Given the description of an element on the screen output the (x, y) to click on. 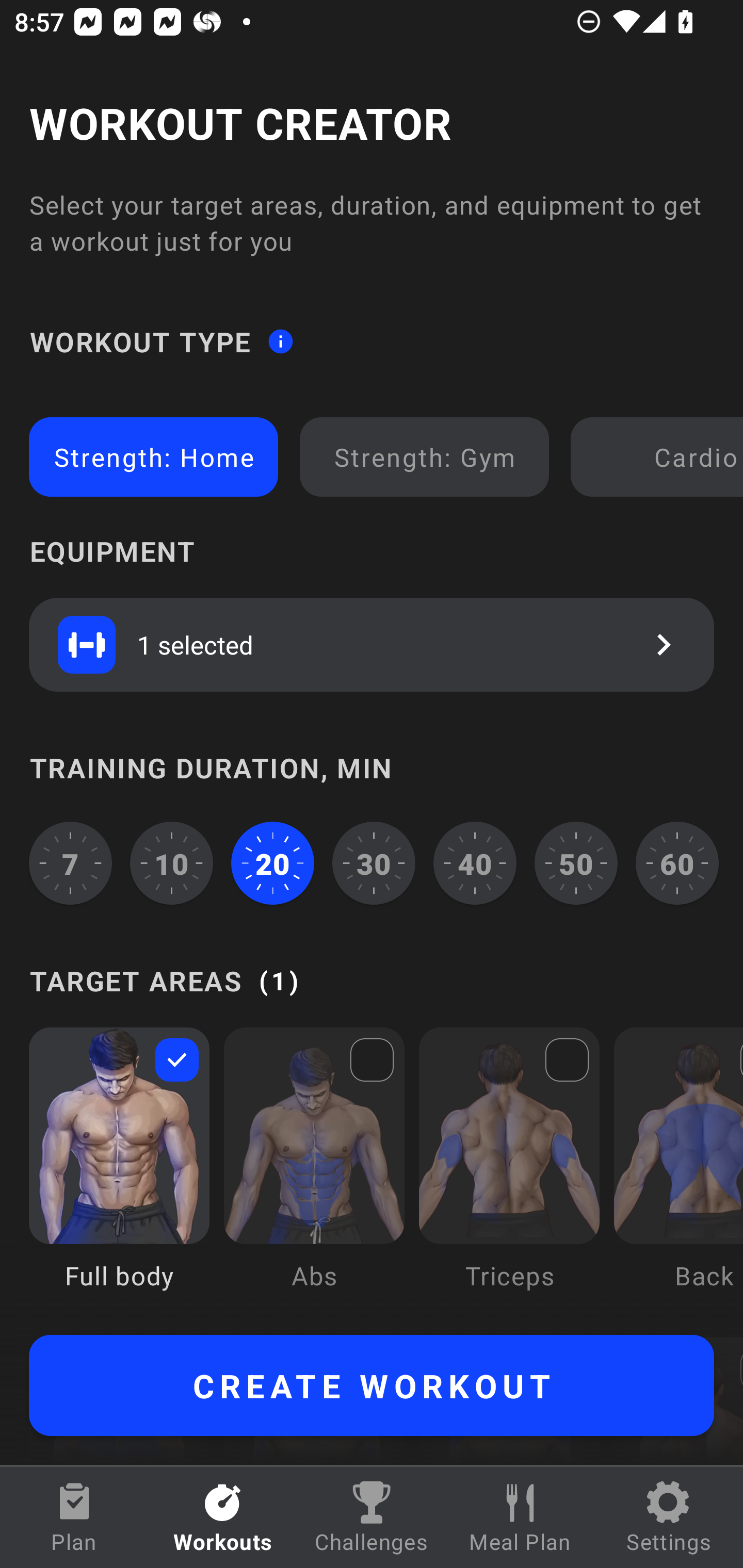
Workout type information button (280, 340)
Strength: Gym (423, 457)
Cardio (660, 457)
1 selected (371, 644)
7 (70, 862)
10 (171, 862)
20 (272, 862)
30 (373, 862)
40 (474, 862)
50 (575, 862)
60 (676, 862)
Abs (313, 1172)
Triceps (509, 1172)
Back (678, 1172)
CREATE WORKOUT (371, 1385)
 Plan  (74, 1517)
 Challenges  (371, 1517)
 Meal Plan  (519, 1517)
 Settings  (668, 1517)
